Given the description of an element on the screen output the (x, y) to click on. 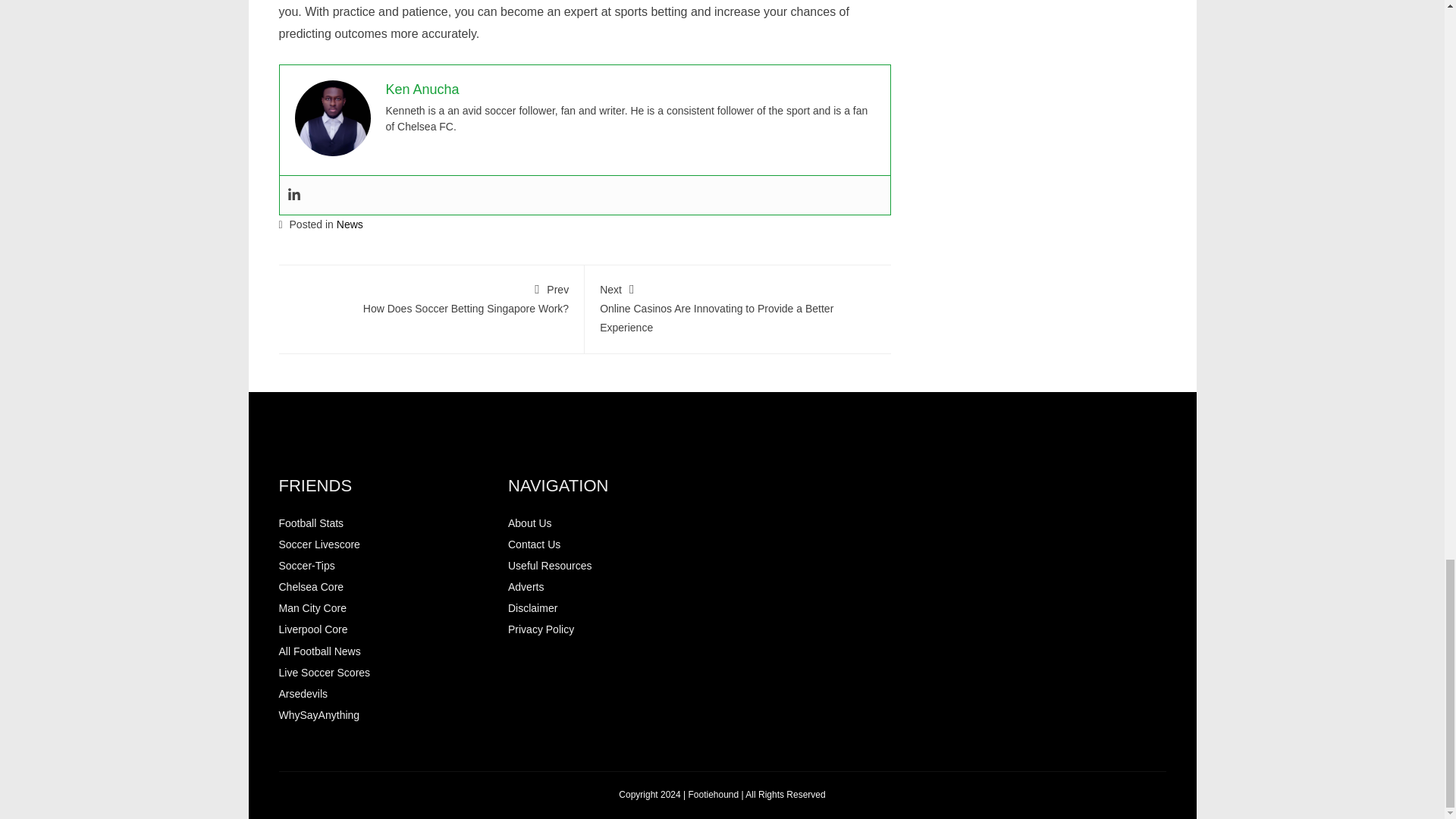
Ken Anucha (421, 89)
Chelsea Core (311, 586)
Soccer-Tips (306, 565)
WhySayAnything (319, 715)
Useful Resources (431, 297)
Man City Core (550, 565)
News (312, 607)
Live Soccer Scores (349, 224)
Contact Us (325, 672)
Adverts (534, 544)
Soccer Livescore (525, 586)
Arsedevils (319, 544)
Liverpool Core (304, 693)
